Given the description of an element on the screen output the (x, y) to click on. 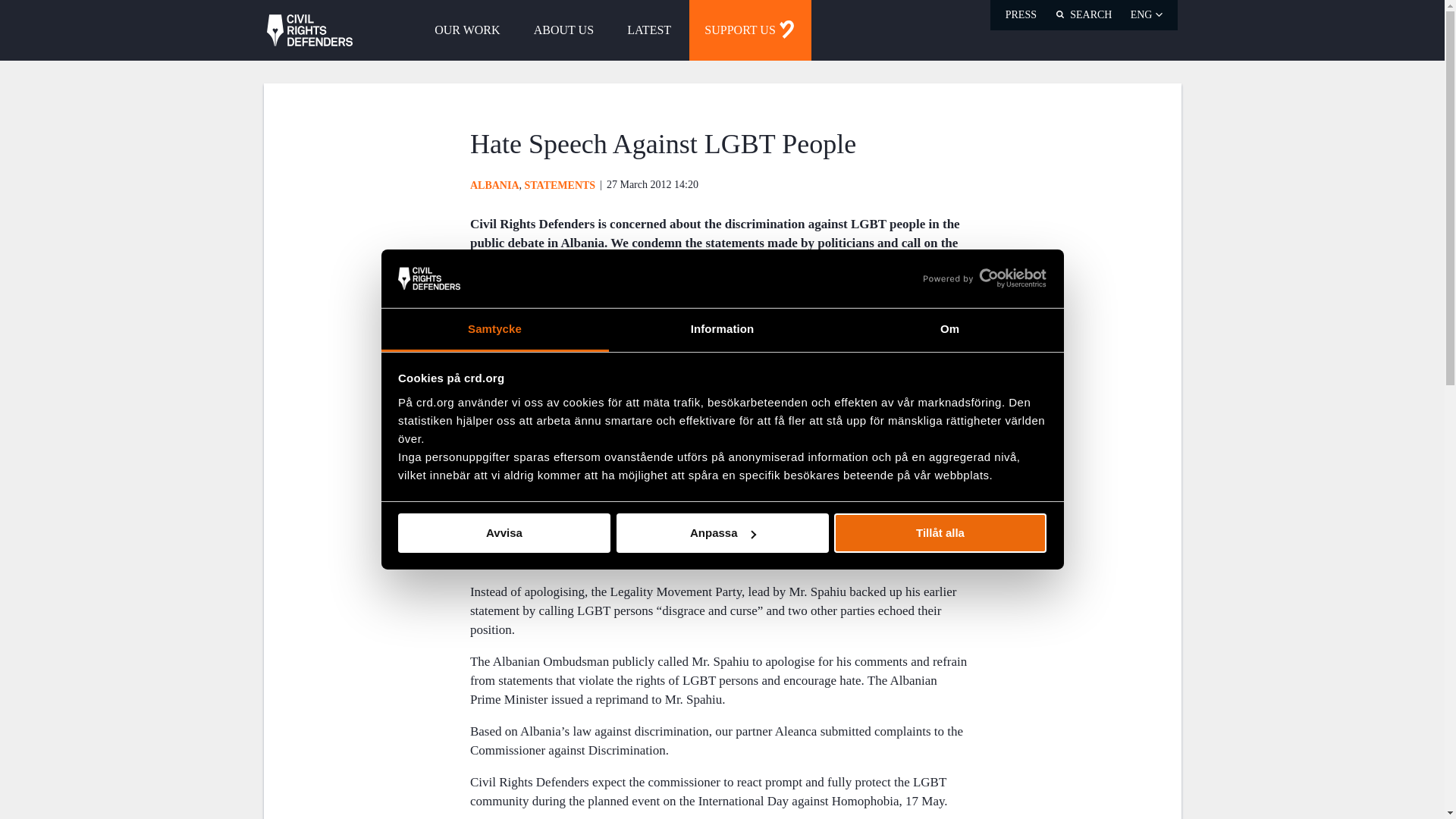
Om (948, 330)
Information (721, 330)
Samtycke (494, 330)
